Given the description of an element on the screen output the (x, y) to click on. 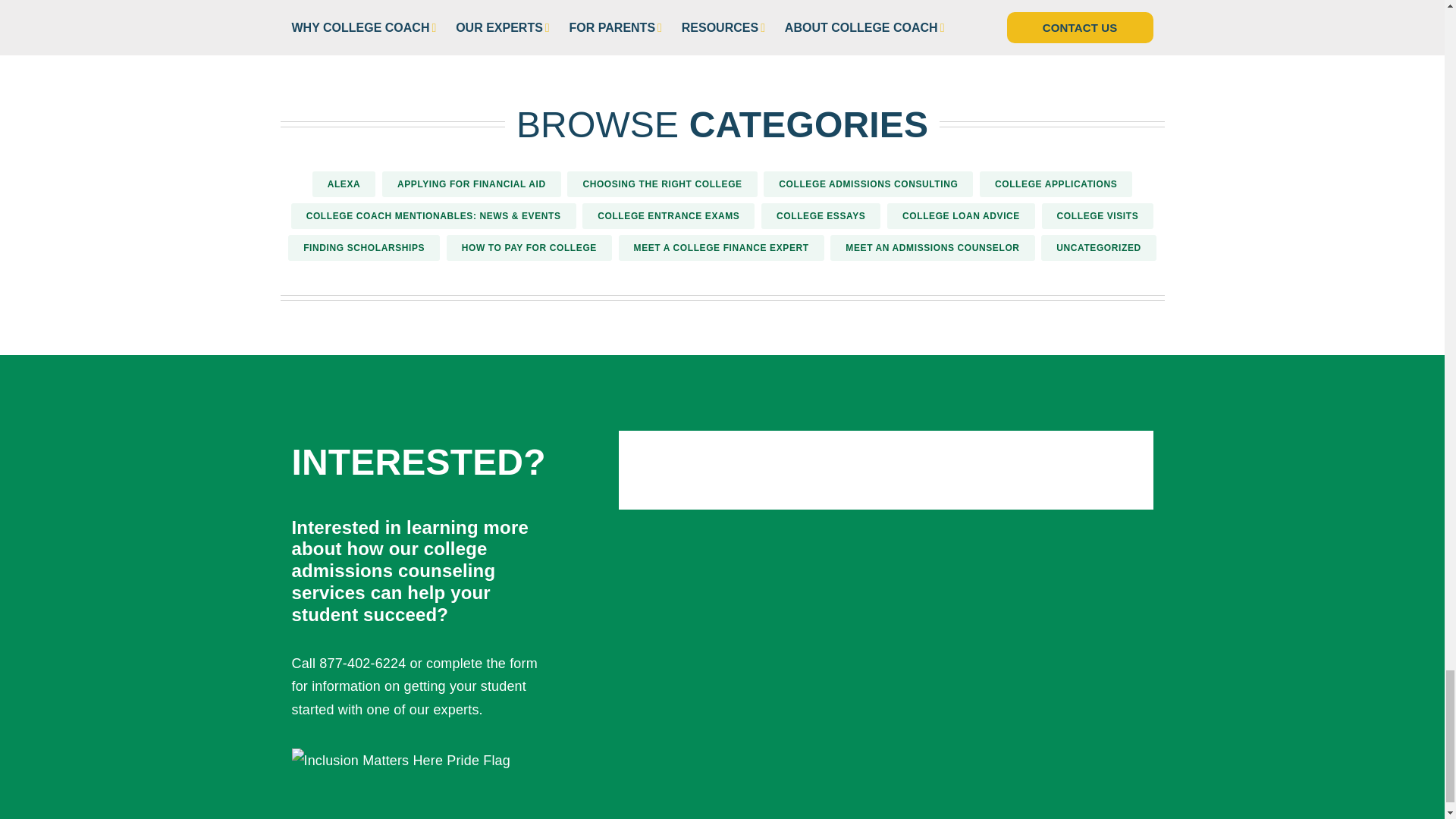
Insert Sitecore Link (407, 663)
